Given the description of an element on the screen output the (x, y) to click on. 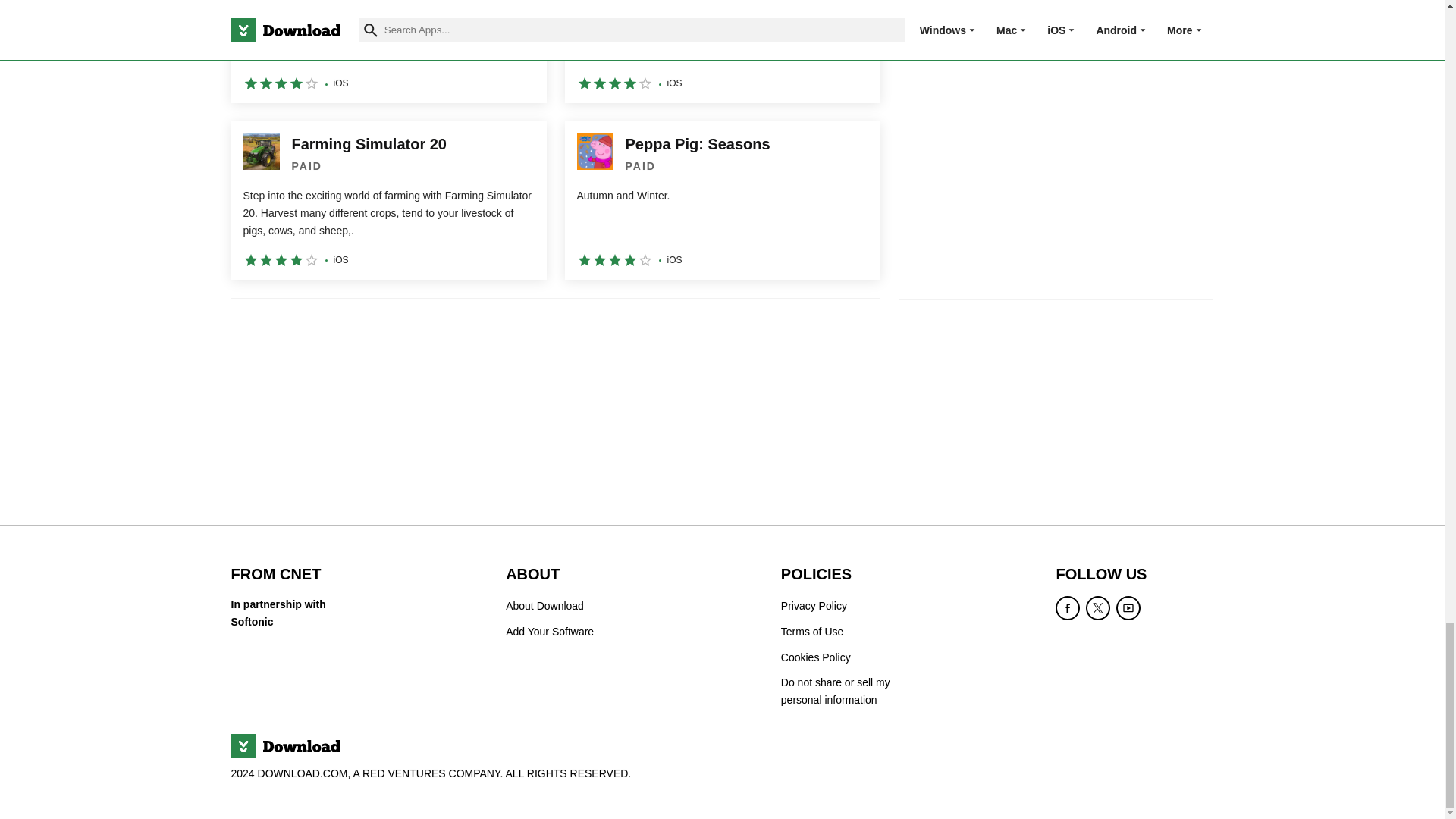
Become a Facebook fan of Download.com (1067, 607)
Farming Simulator 20 (388, 200)
Download.com (284, 745)
FURBY CONNECT World (388, 51)
Peppa Pig: Seasons (721, 200)
Clay Jam! (721, 51)
